Given the description of an element on the screen output the (x, y) to click on. 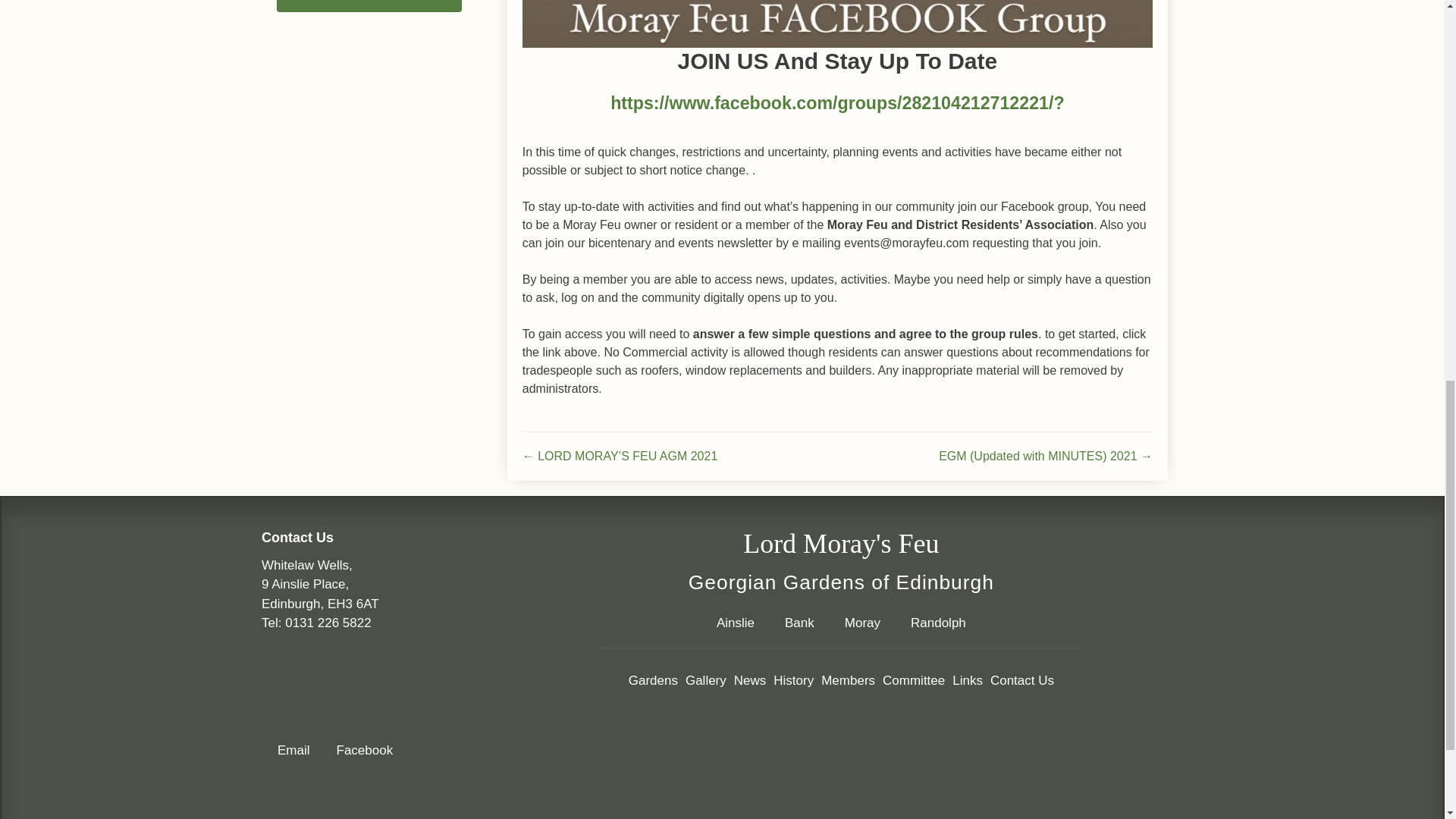
Scroll back to top (1406, 720)
